Given the description of an element on the screen output the (x, y) to click on. 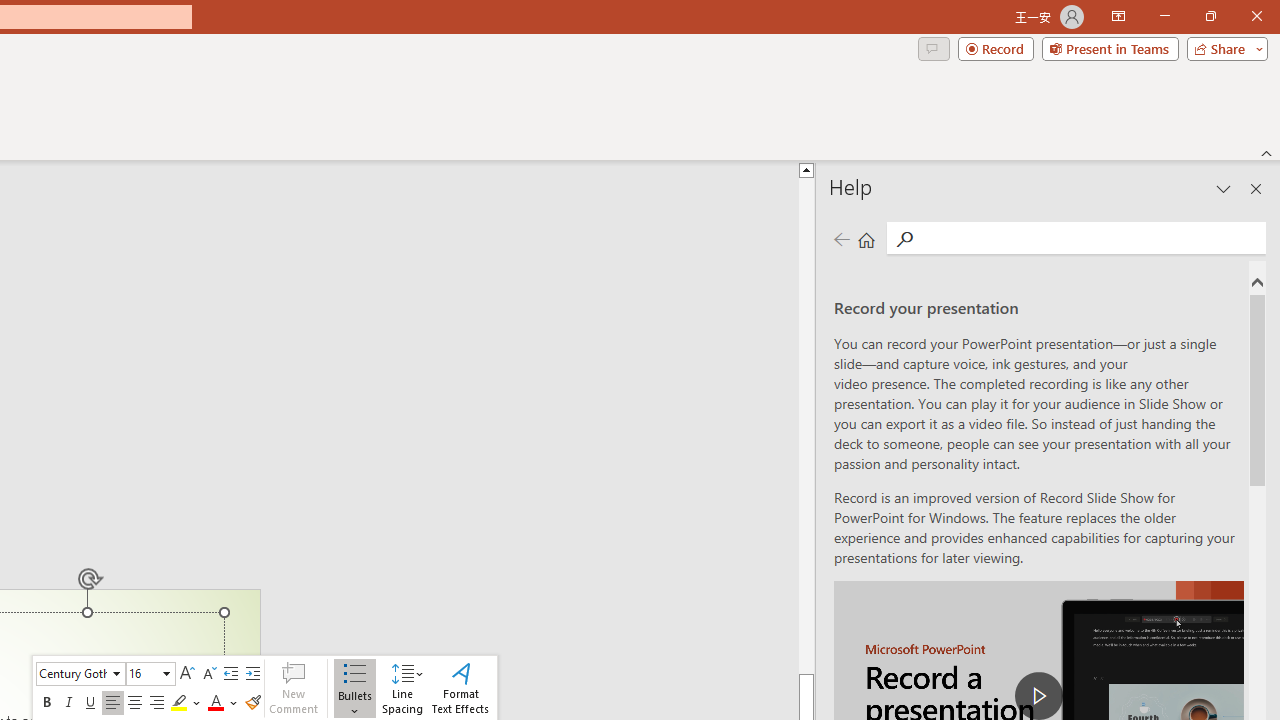
New Comment (293, 687)
